Given the description of an element on the screen output the (x, y) to click on. 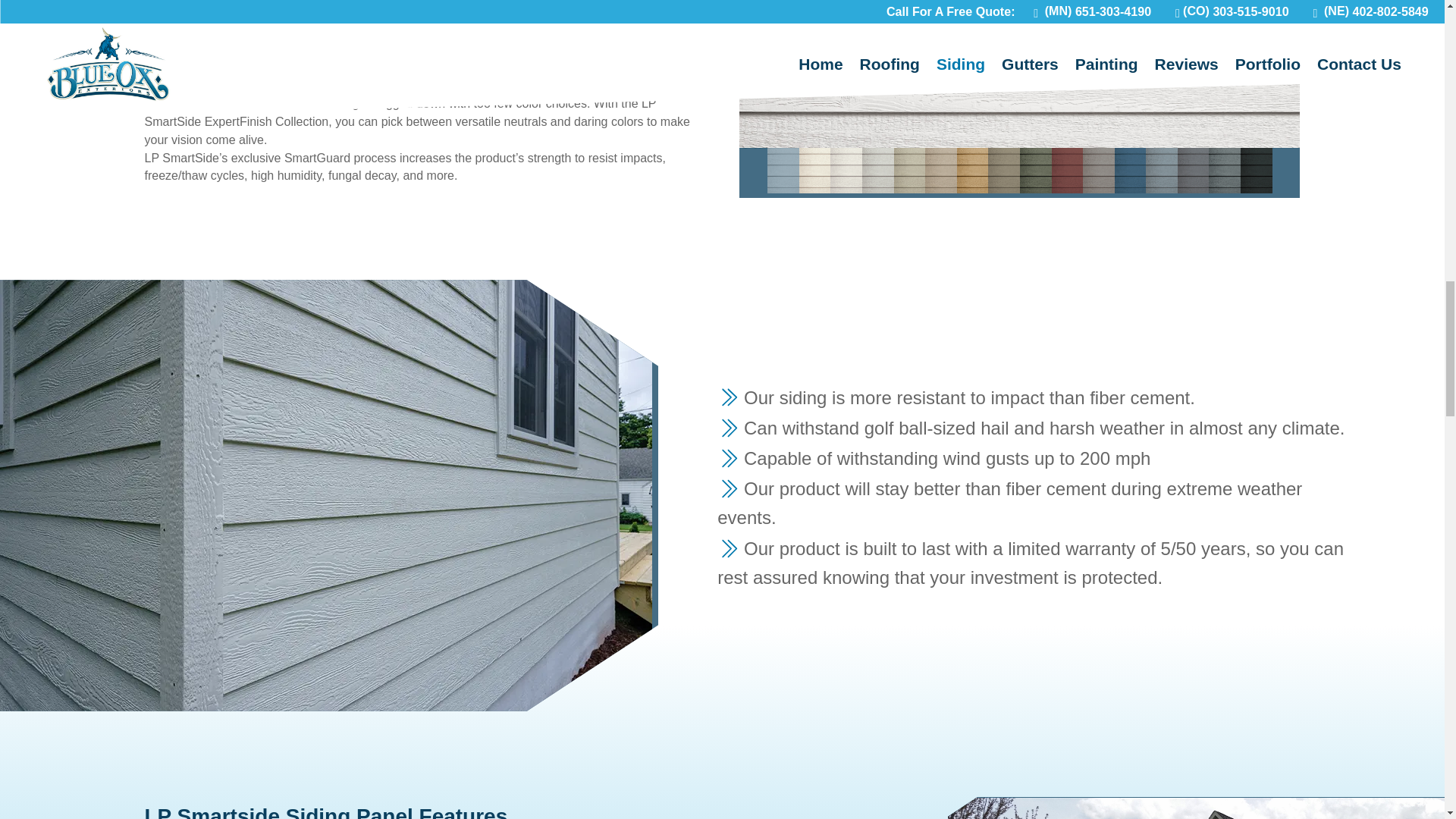
Snowscape White (1019, 74)
